Given the description of an element on the screen output the (x, y) to click on. 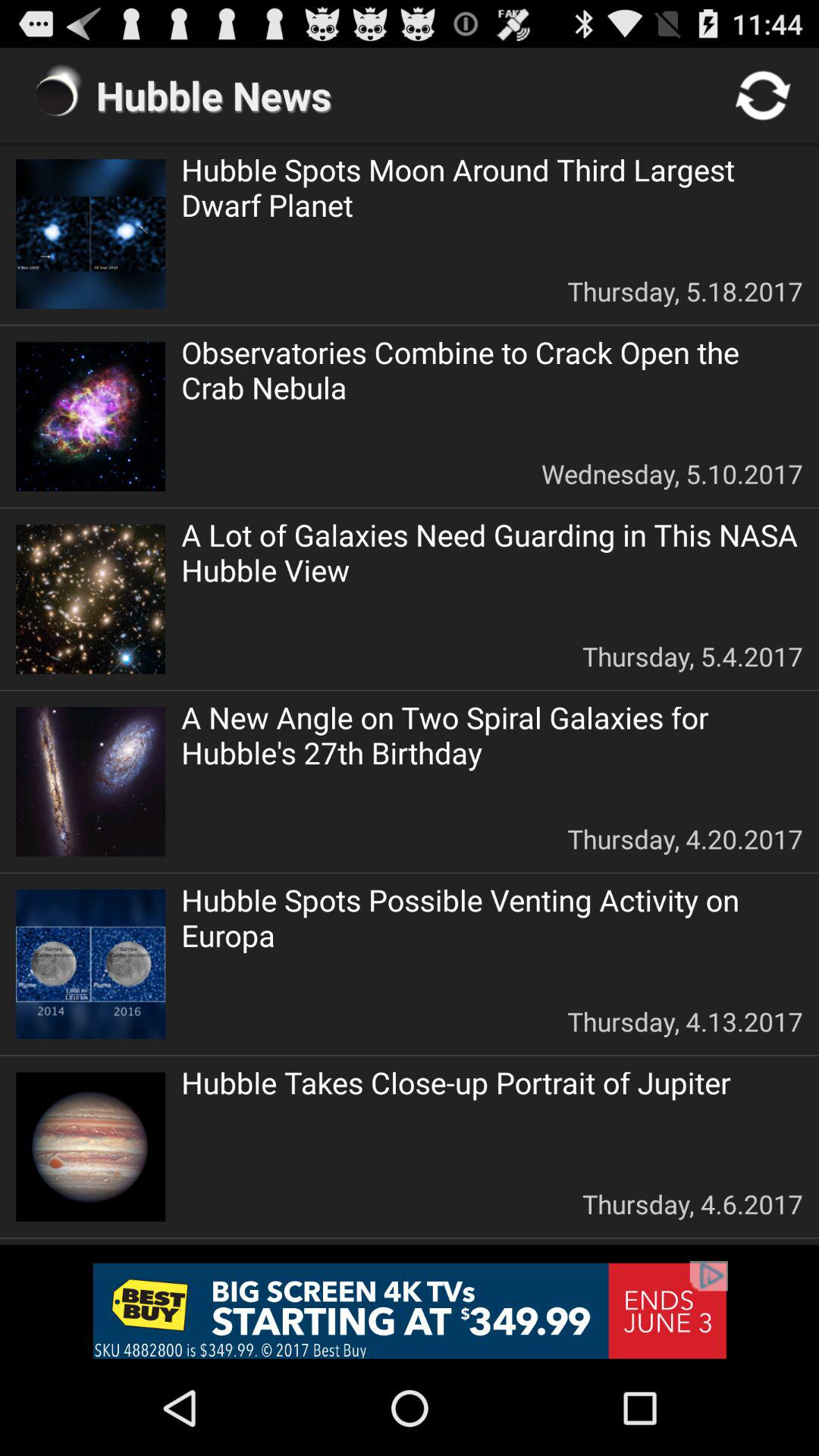
adverdisment (409, 1310)
